Given the description of an element on the screen output the (x, y) to click on. 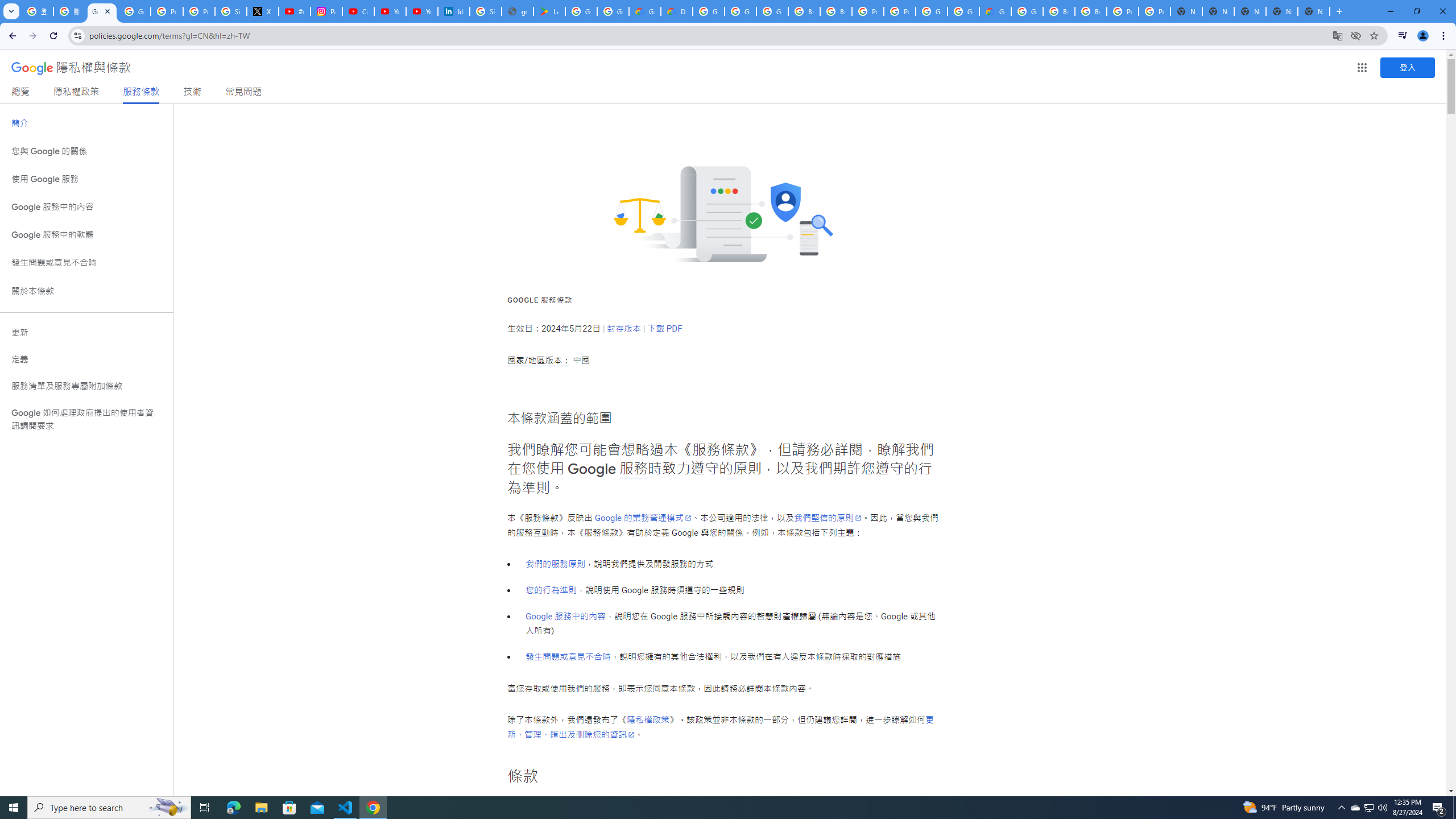
Browse Chrome as a guest - Computer - Google Chrome Help (836, 11)
#nbabasketballhighlights - YouTube (294, 11)
